Given the description of an element on the screen output the (x, y) to click on. 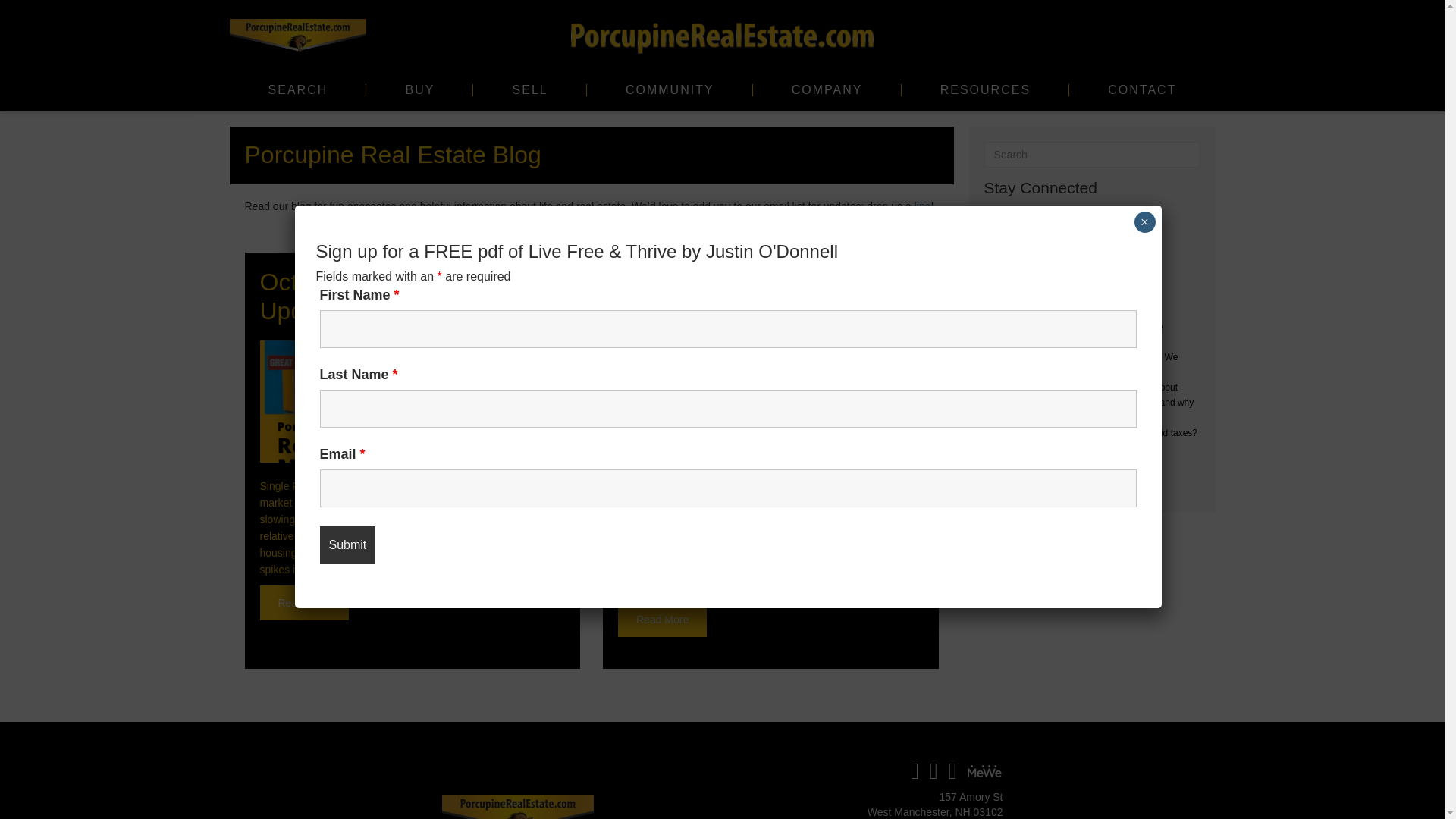
PRE-just-text-gold (722, 38)
COMPANY (826, 89)
RESOURCES (985, 89)
Porcupine Real Estate in the News (751, 296)
Read More (303, 602)
October Real Estate Market Update (409, 296)
Porcupine Real Estate in the News (770, 401)
line (922, 205)
SEARCH (297, 89)
Submit (347, 545)
Porcupine Real Estate (516, 806)
CONTACT (1141, 89)
October Real Estate Market Update (409, 296)
Read More (661, 619)
October Real Estate Market Update (303, 602)
